Given the description of an element on the screen output the (x, y) to click on. 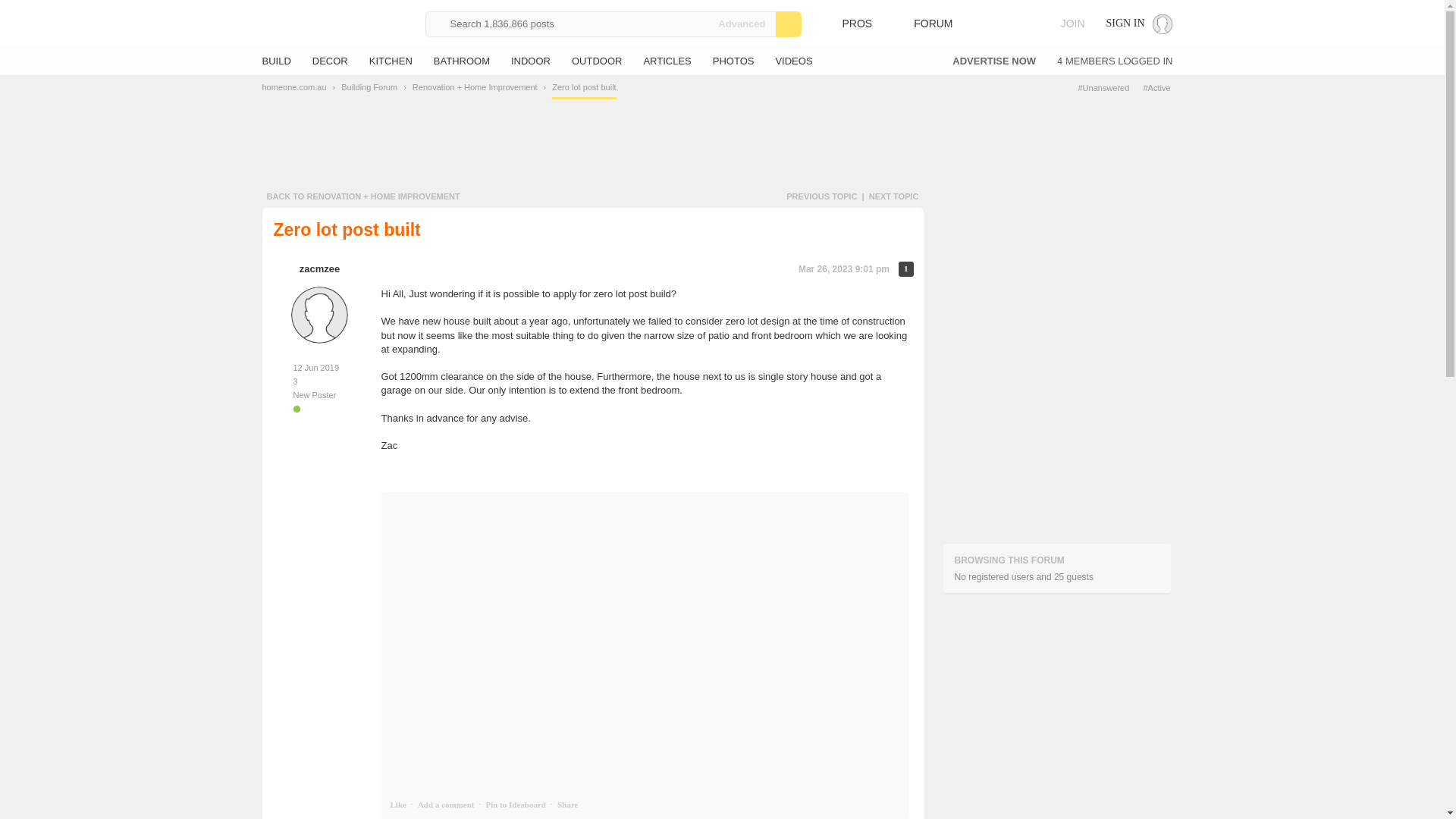
homeone.com.au (294, 86)
BATHROOM (461, 60)
1 of 1 post (906, 268)
VIDEOS (793, 60)
ADVERTISE NOW (993, 60)
KITCHEN (390, 60)
NEXT TOPIC (893, 195)
Posts (319, 381)
Advanced (741, 23)
Building Forum (368, 86)
